Given the description of an element on the screen output the (x, y) to click on. 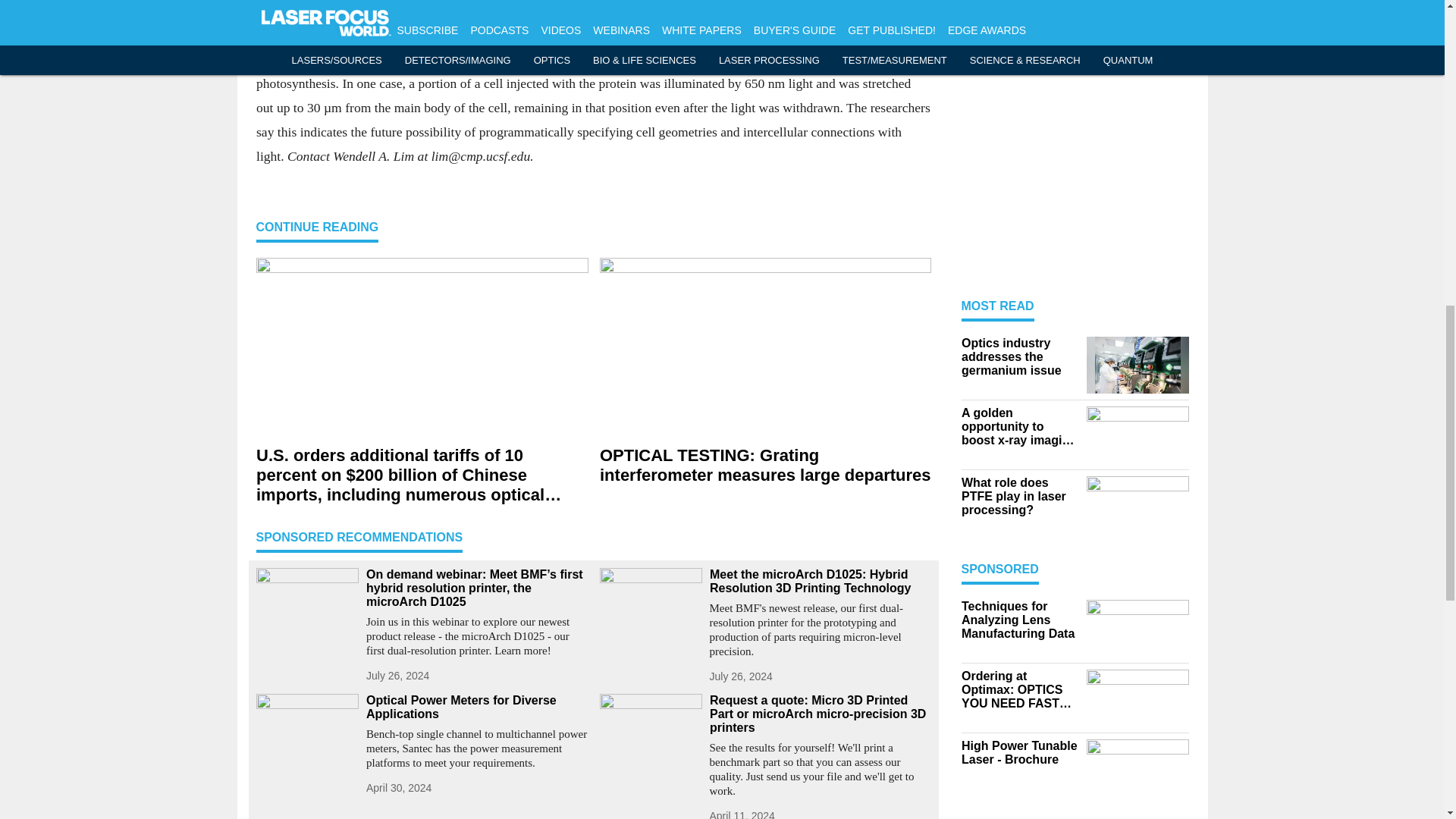
Optical Power Meters for Diverse Applications (476, 707)
